Given the description of an element on the screen output the (x, y) to click on. 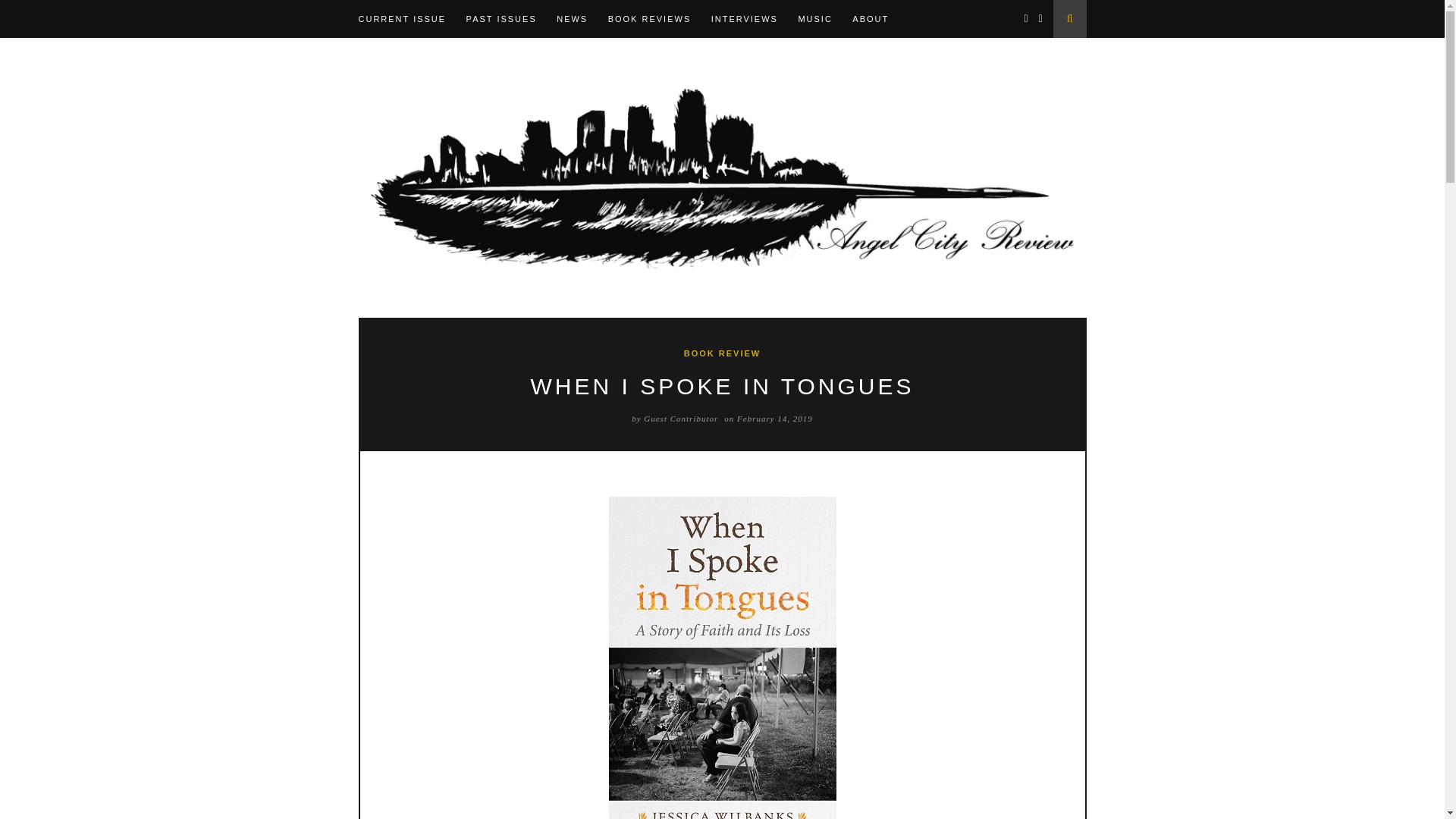
Posts by Guest Contributor (680, 418)
MUSIC (822, 18)
CURRENT ISSUE (410, 18)
ABOUT (878, 18)
PAST ISSUES (509, 18)
BOOK REVIEWS (657, 18)
NEWS (580, 18)
INTERVIEWS (752, 18)
BOOK REVIEW (722, 353)
